Given the description of an element on the screen output the (x, y) to click on. 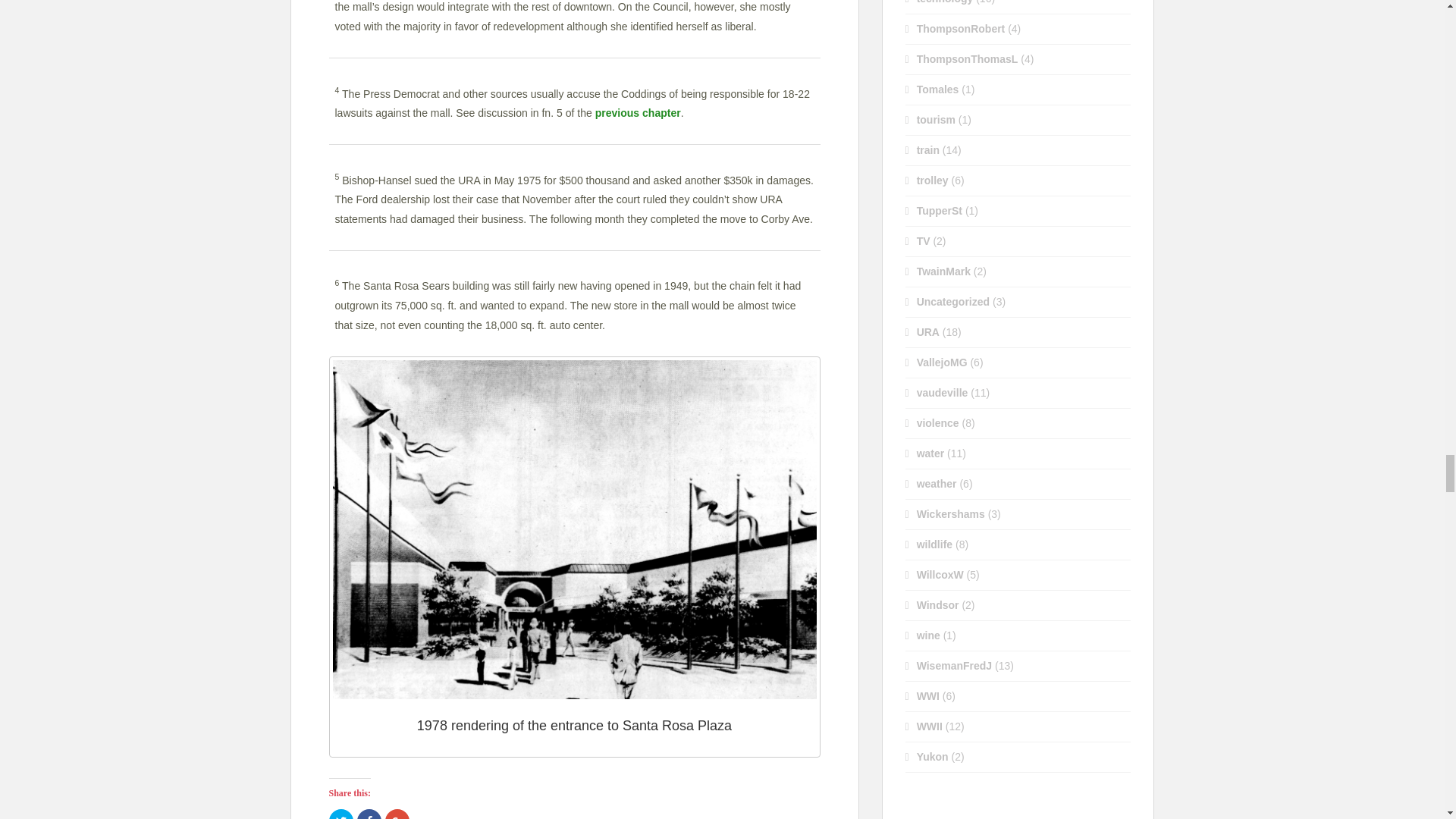
Share on Facebook (368, 814)
Click to share on Twitter (341, 814)
previous chapter (638, 112)
